Given the description of an element on the screen output the (x, y) to click on. 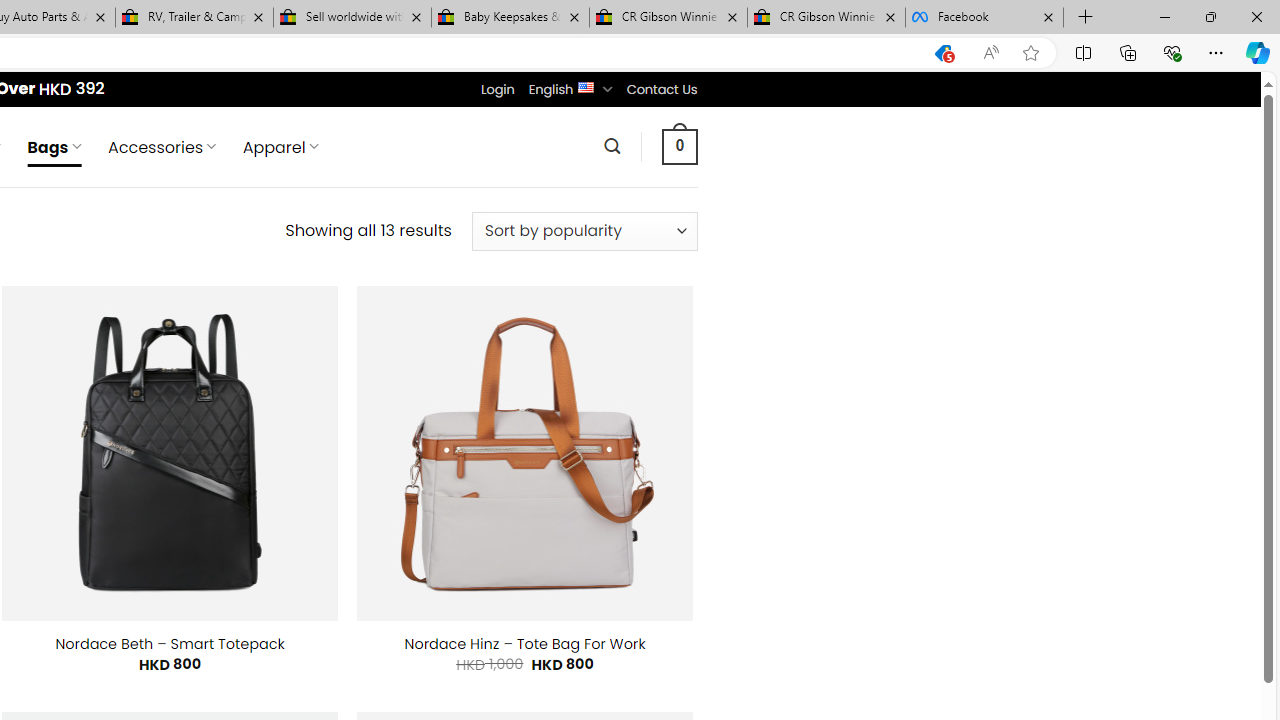
  0   (679, 146)
English (586, 86)
